Given the description of an element on the screen output the (x, y) to click on. 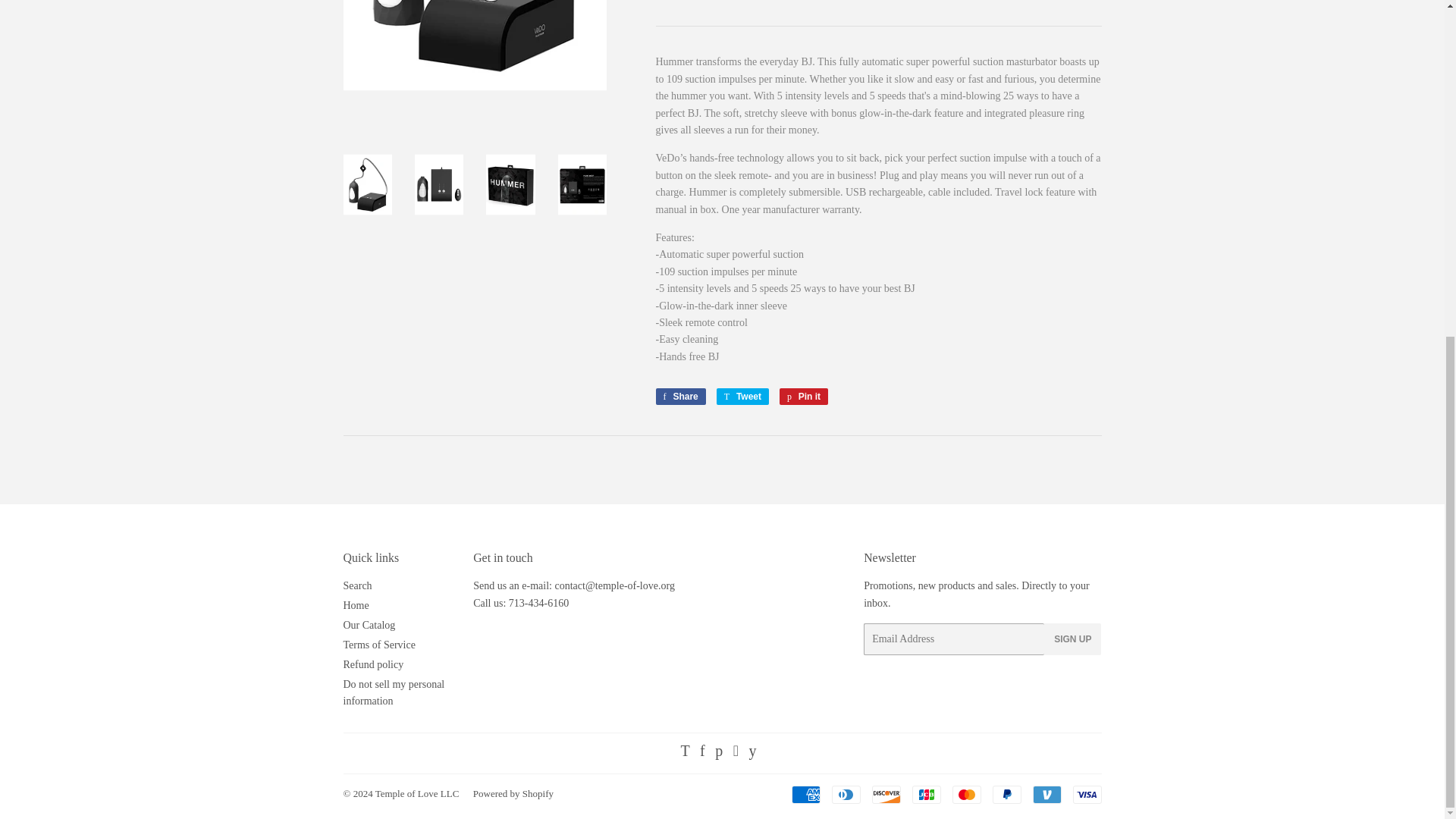
JCB (925, 793)
Share on Facebook (679, 396)
Mastercard (966, 793)
PayPal (1005, 793)
American Express (806, 793)
Tweet on Twitter (742, 396)
Discover (886, 793)
Visa (1085, 793)
Diners Club (845, 793)
Pin on Pinterest (803, 396)
